Given the description of an element on the screen output the (x, y) to click on. 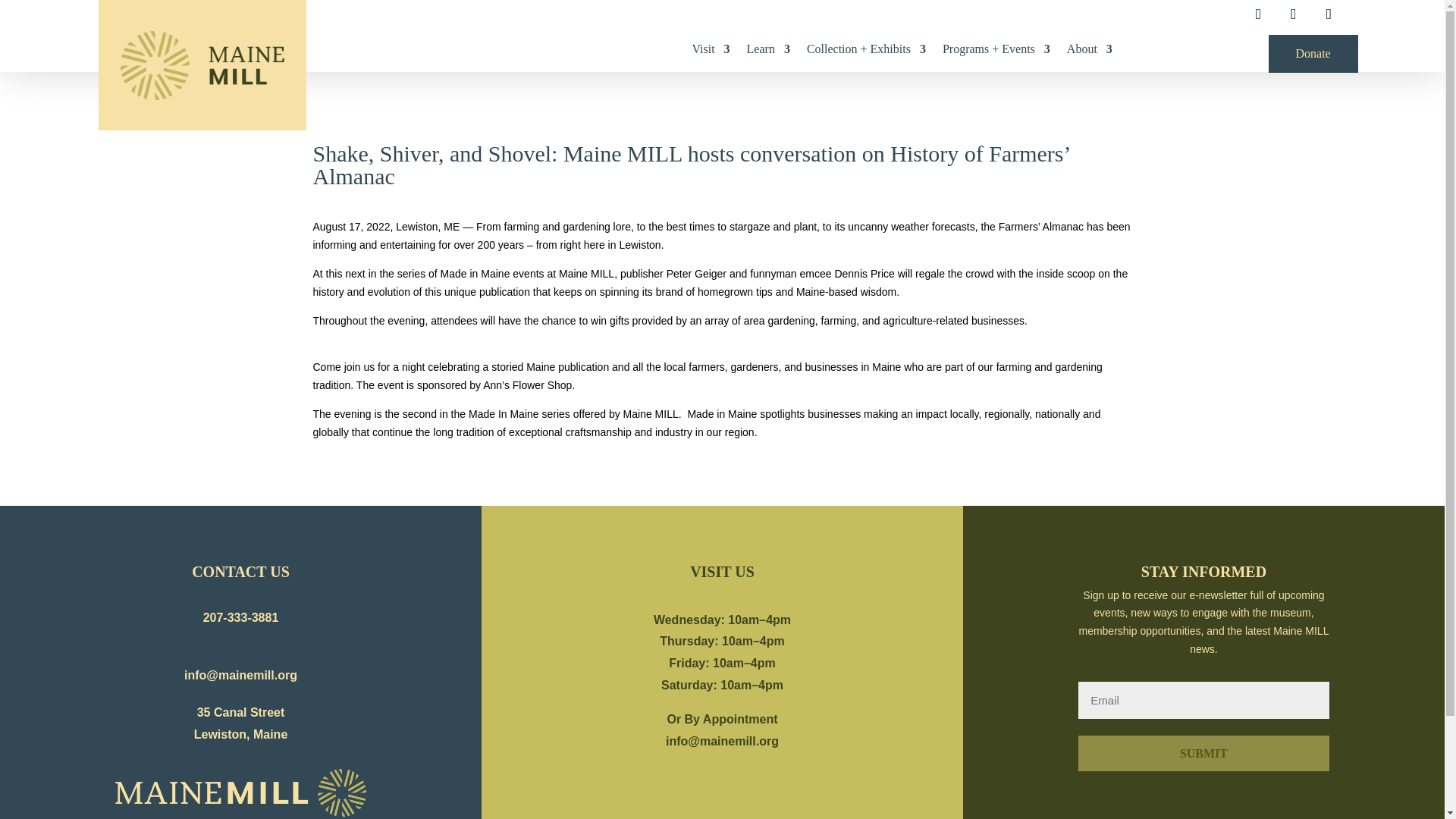
Visit (710, 52)
Follow on Instagram (1328, 14)
Follow on Facebook (1257, 14)
Learn (768, 52)
Follow on X (1293, 14)
About (1089, 52)
